Given the description of an element on the screen output the (x, y) to click on. 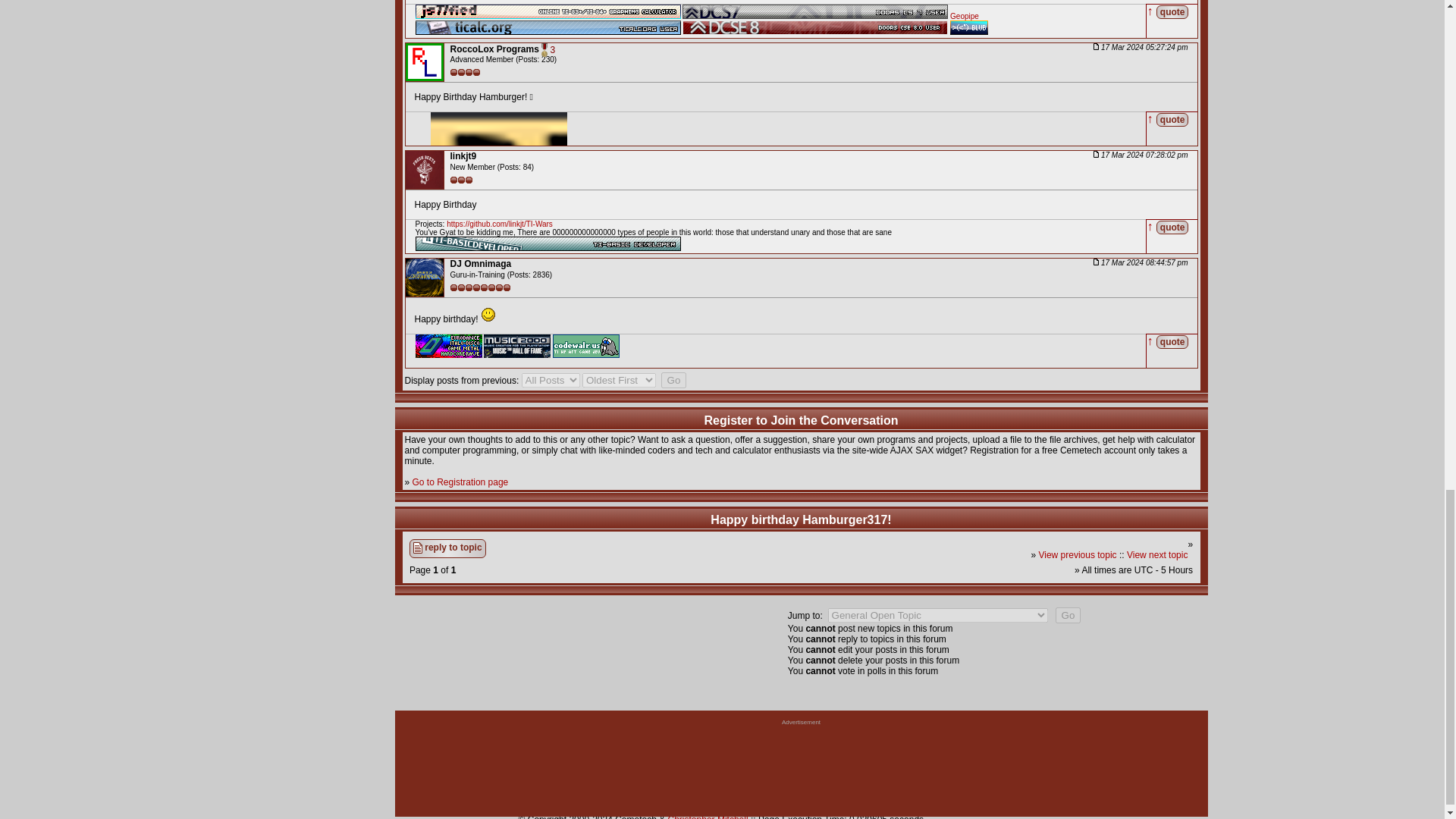
Go (1068, 615)
Go (674, 380)
